Given the description of an element on the screen output the (x, y) to click on. 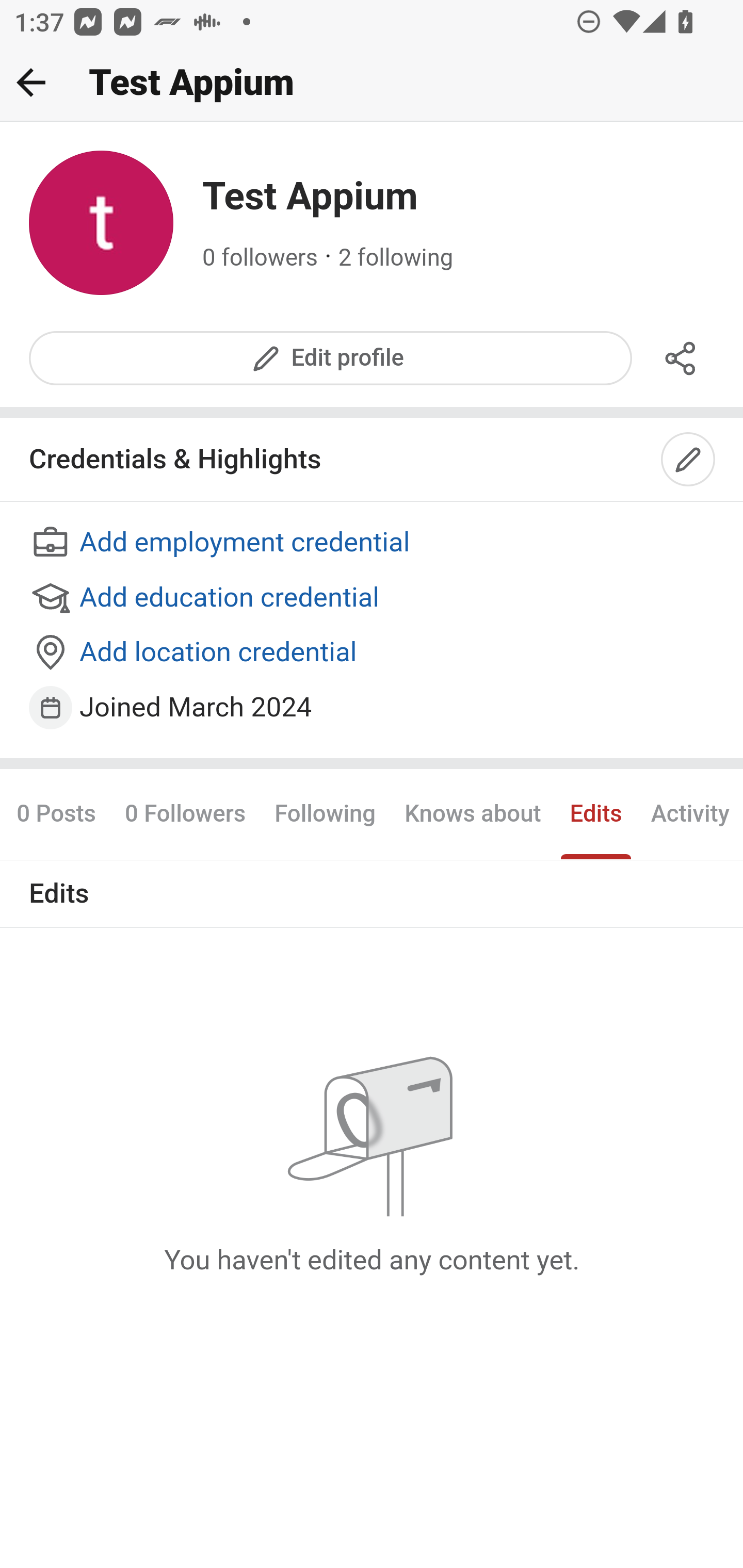
Back (30, 82)
0 followers (260, 257)
2 following (395, 257)
Share (681, 358)
Edit profile (330, 357)
Edit credentials (688, 459)
Add employment credential (372, 543)
Add education credential (372, 598)
Add location credential (372, 653)
0 Posts (63, 813)
0 Followers (184, 813)
Following (325, 813)
Knows about (473, 813)
Edits (595, 813)
Activity (689, 813)
